Given the description of an element on the screen output the (x, y) to click on. 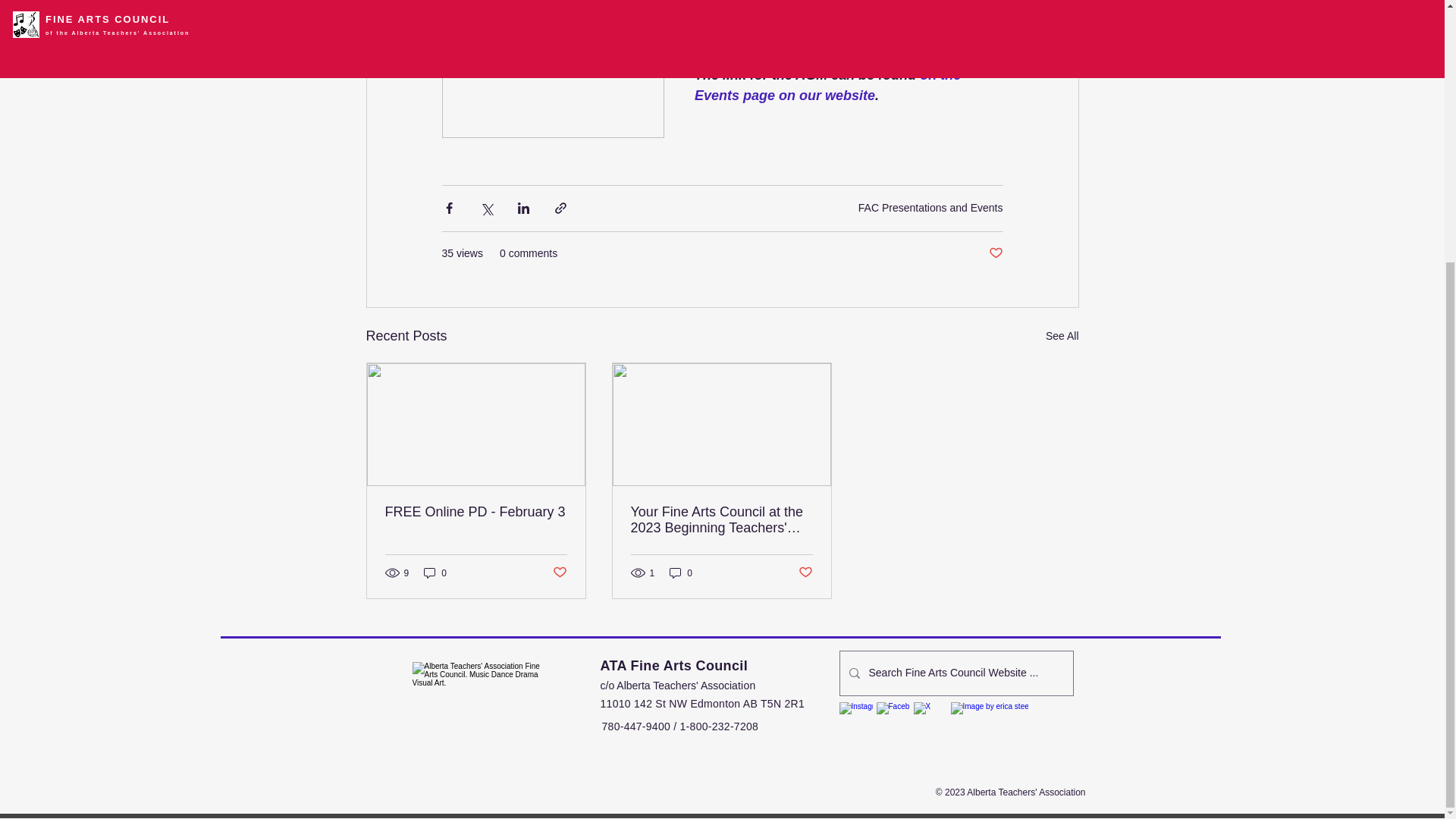
Post not marked as liked (558, 572)
on the Events page on our website (828, 85)
See All (1061, 336)
FAC Presentations and Events (931, 207)
Post not marked as liked (995, 253)
0 (435, 572)
0 (681, 572)
Post not marked as liked (804, 572)
FREE Online PD - February 3 (476, 512)
